Given the description of an element on the screen output the (x, y) to click on. 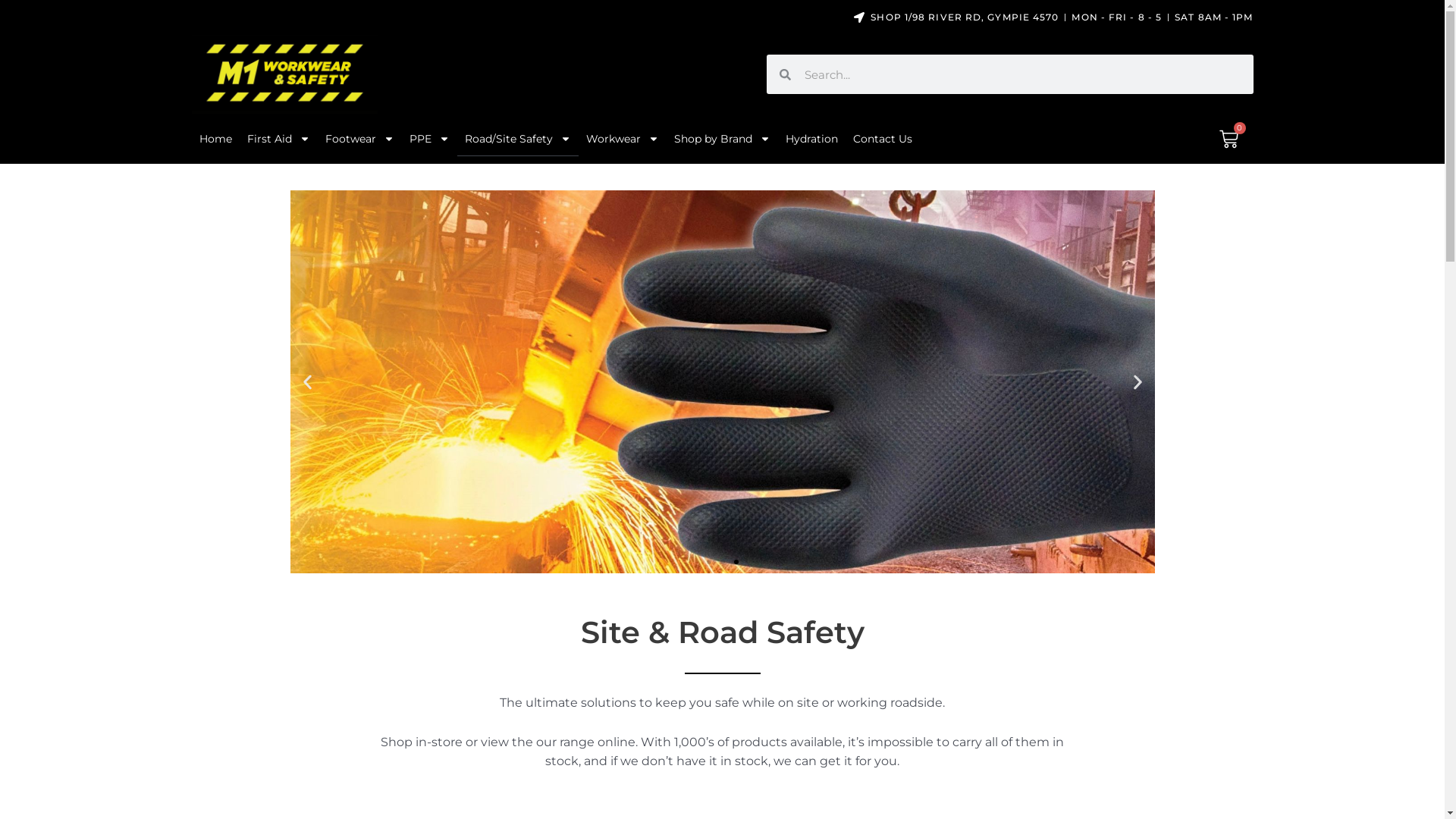
Hydration Element type: text (811, 138)
Road/Site Safety Element type: text (516, 138)
PPE Element type: text (429, 138)
Shop by Brand Element type: text (721, 138)
0
Cart Element type: text (1228, 139)
Workwear Element type: text (621, 138)
Home Element type: text (214, 138)
Footwear Element type: text (358, 138)
Contact Us Element type: text (881, 138)
First Aid Element type: text (278, 138)
